Given the description of an element on the screen output the (x, y) to click on. 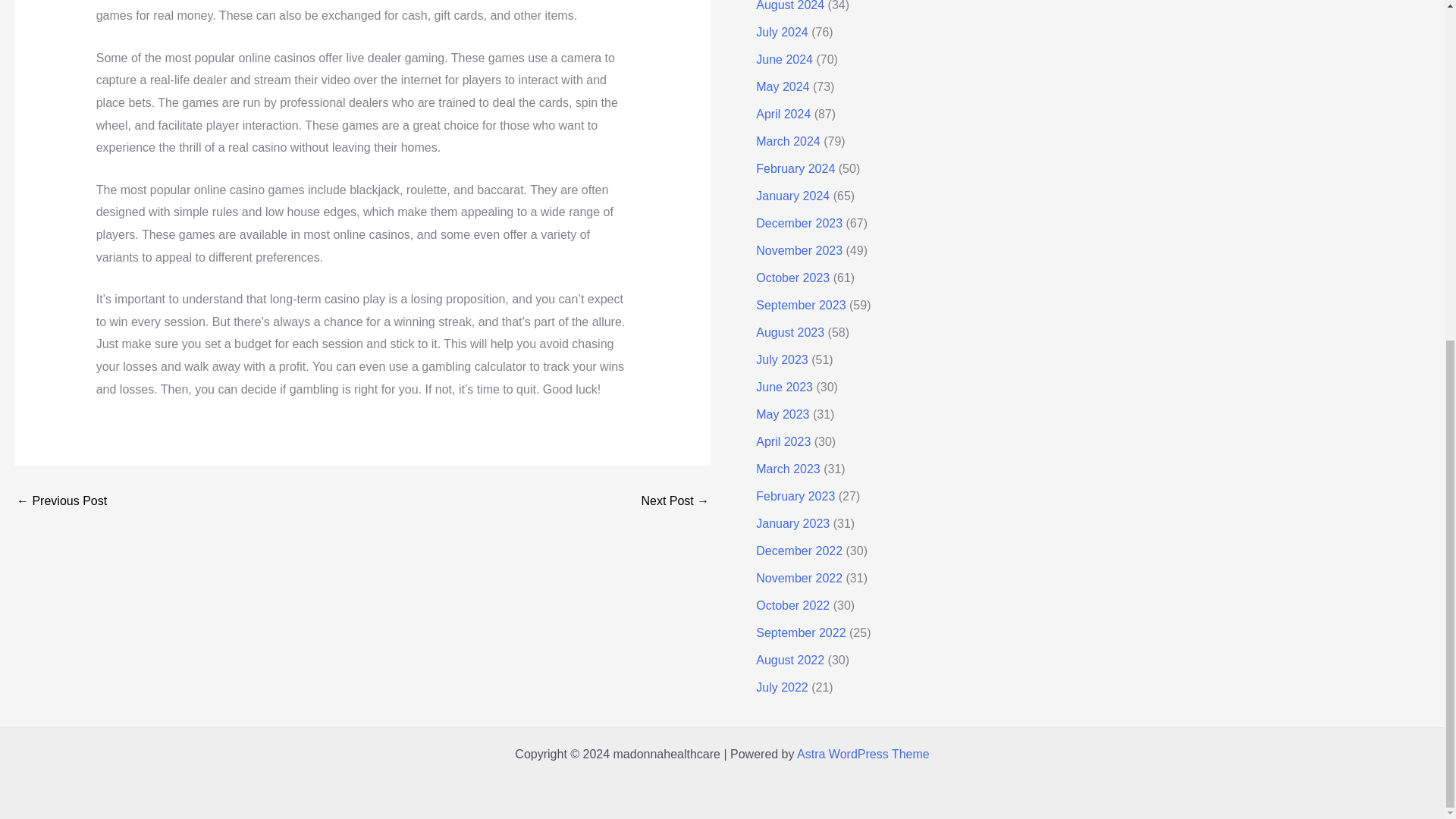
September 2023 (800, 305)
June 2024 (783, 59)
March 2024 (788, 141)
May 2024 (782, 86)
May 2023 (782, 413)
October 2023 (792, 277)
February 2023 (794, 495)
December 2022 (799, 550)
January 2024 (792, 195)
June 2023 (783, 386)
